Given the description of an element on the screen output the (x, y) to click on. 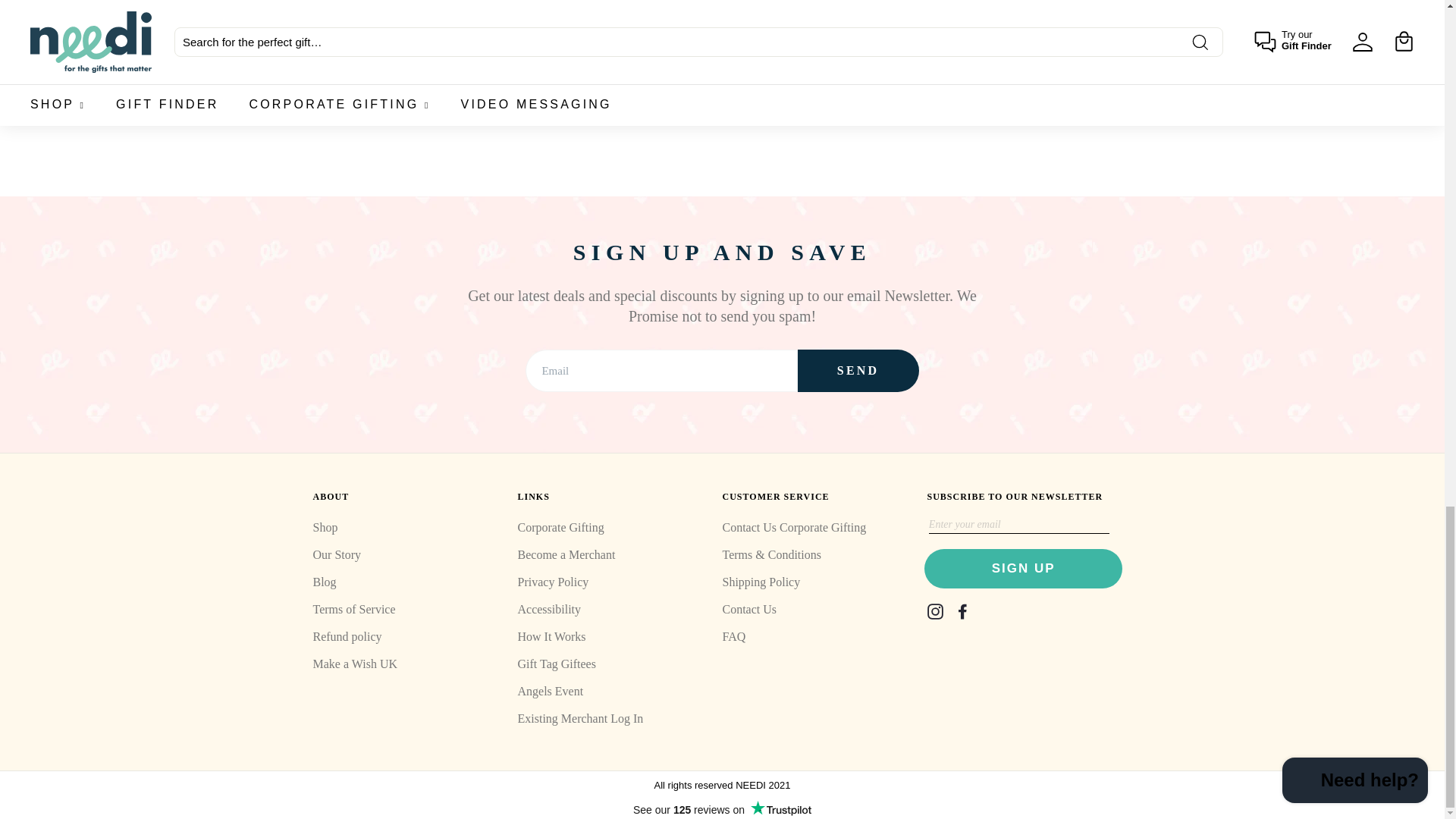
needi on Facebook (961, 611)
needi on Instagram (934, 611)
